Given the description of an element on the screen output the (x, y) to click on. 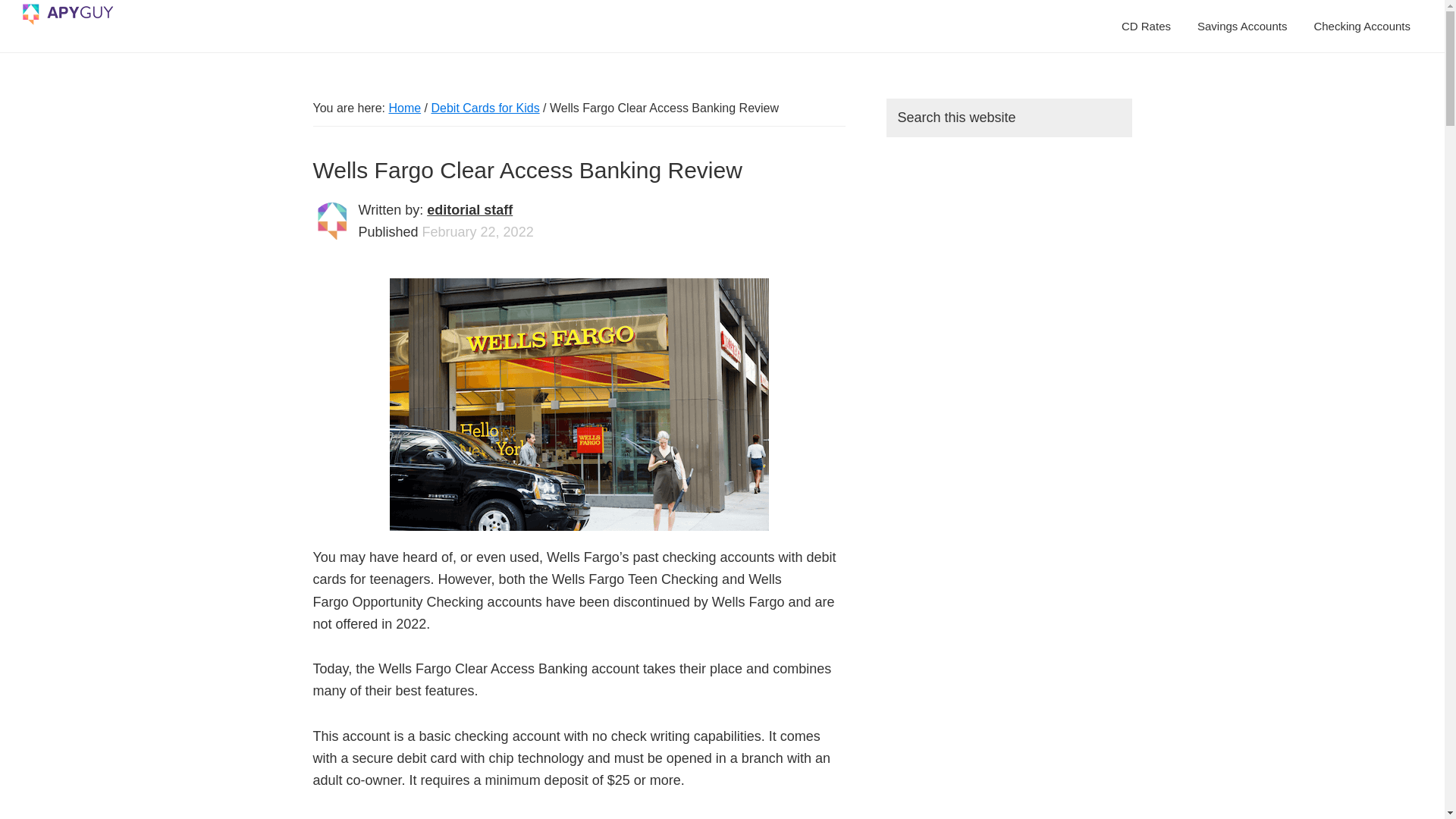
Home (404, 107)
Savings Accounts (1242, 25)
CD Rates (1145, 25)
editorial staff (469, 209)
Checking Accounts (1361, 25)
Debit Cards for Kids (484, 107)
